Given the description of an element on the screen output the (x, y) to click on. 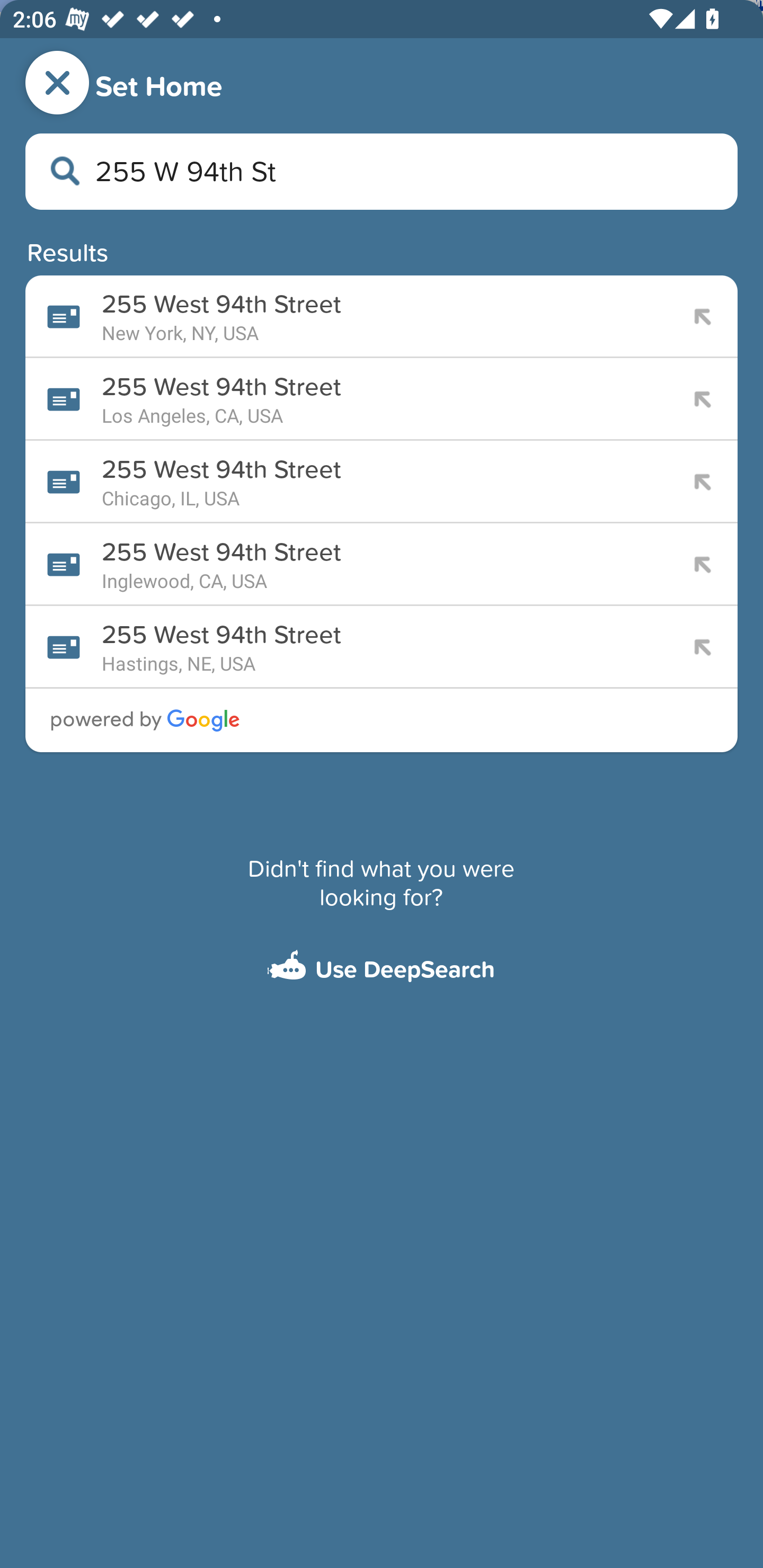
255 West 94th Street New York, NY, USA (381, 316)
